Given the description of an element on the screen output the (x, y) to click on. 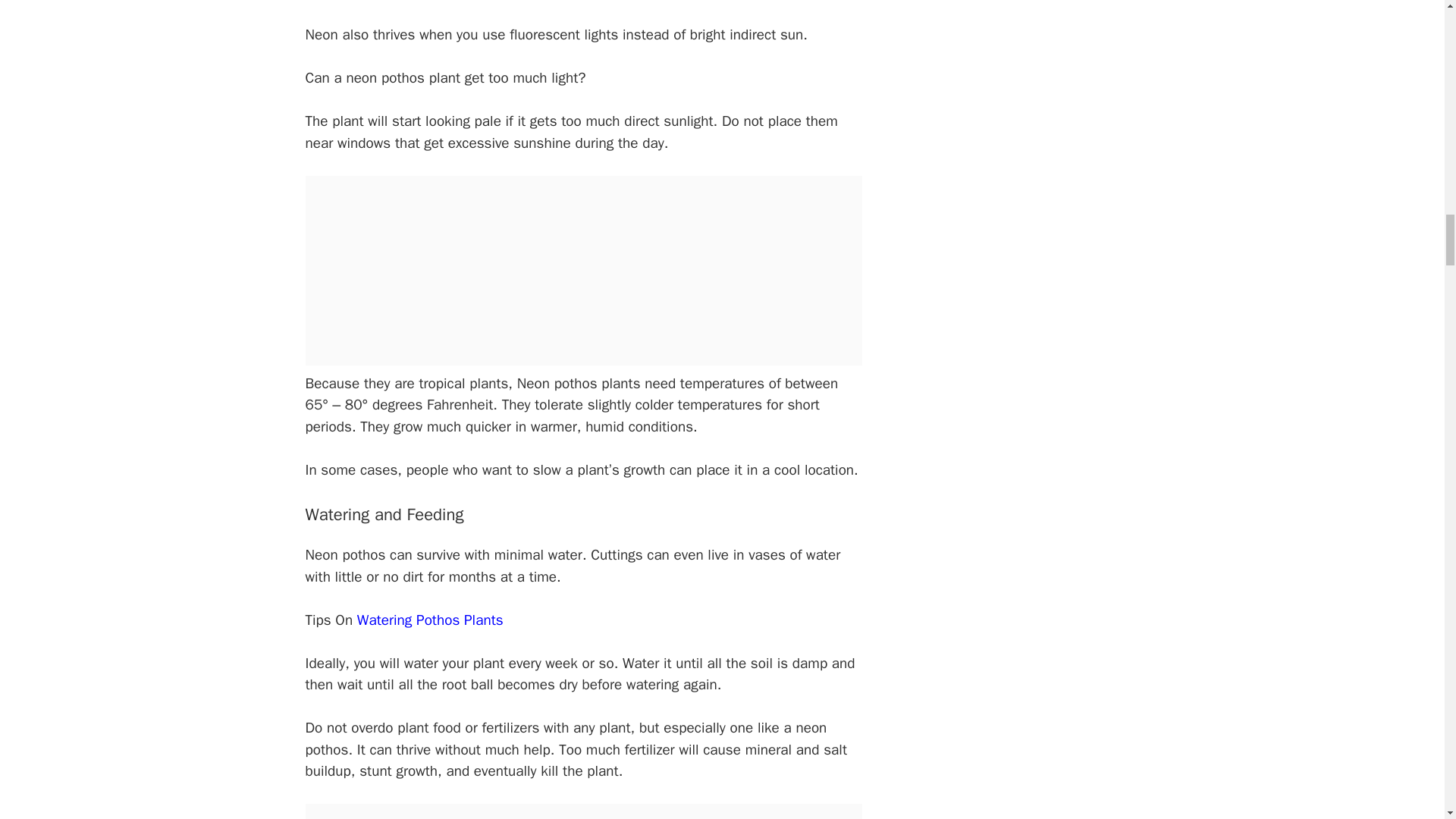
bathrooms (585, 0)
Watering Pothos Plants (429, 619)
